Given the description of an element on the screen output the (x, y) to click on. 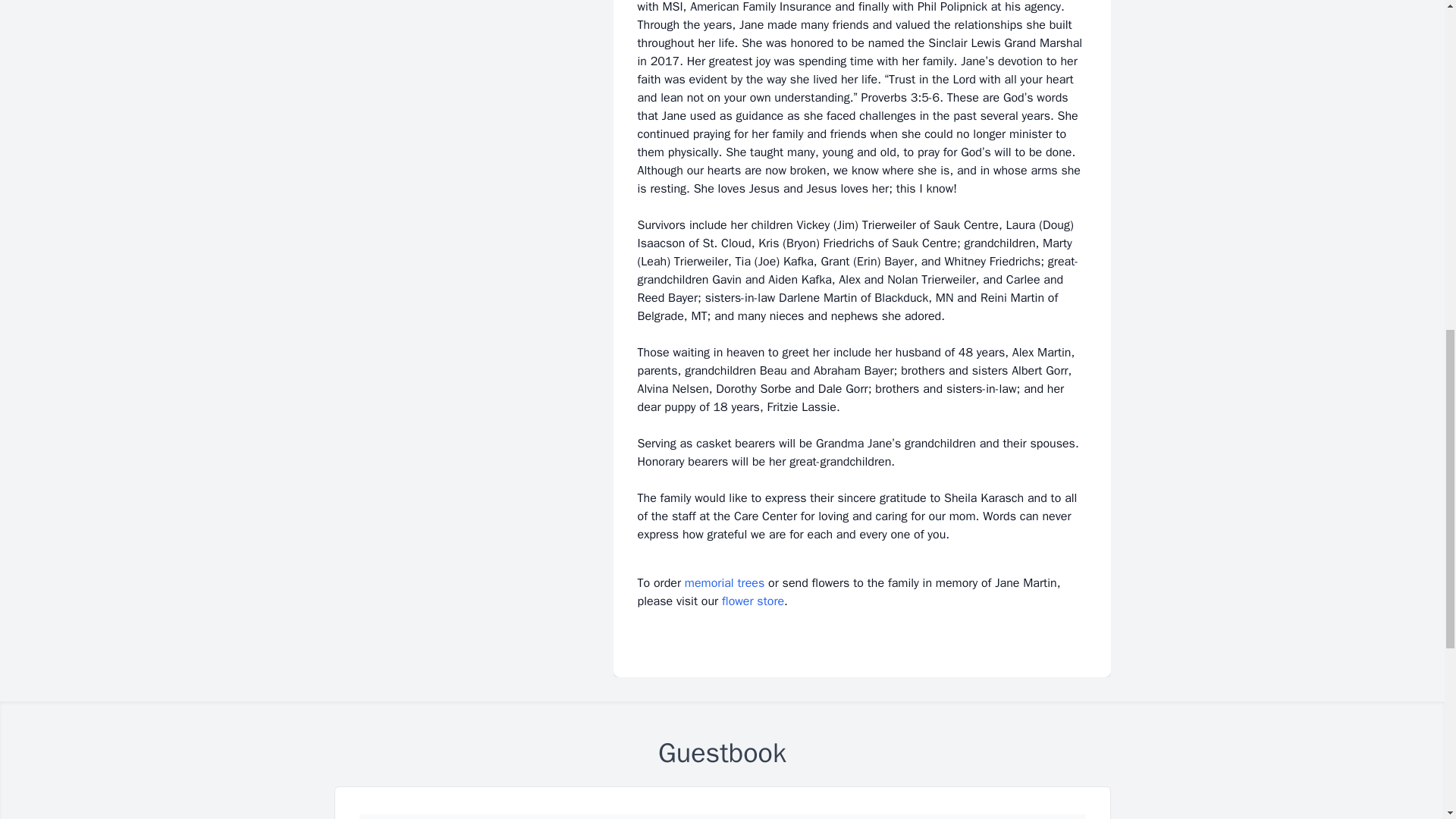
memorial trees (724, 582)
flower store (753, 601)
